Given the description of an element on the screen output the (x, y) to click on. 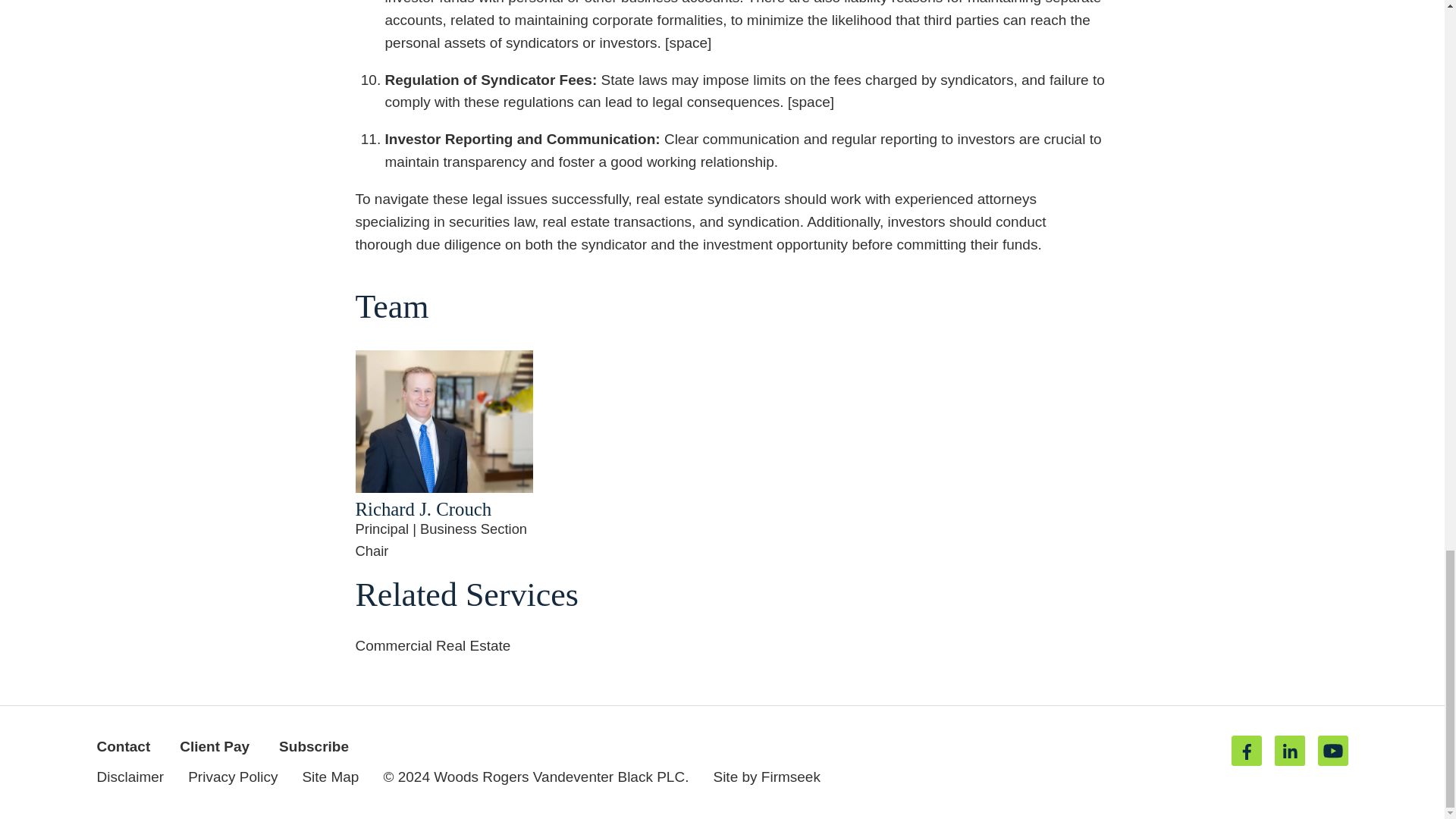
Subscribe (314, 746)
Youtube (1332, 750)
Client Pay (213, 746)
Jump to Page (673, 718)
Richard J. Crouch (423, 508)
Linkedin (1289, 750)
Contact (124, 746)
Site by Firmseek (766, 776)
Privacy Policy (232, 776)
Site Map (329, 776)
